Given the description of an element on the screen output the (x, y) to click on. 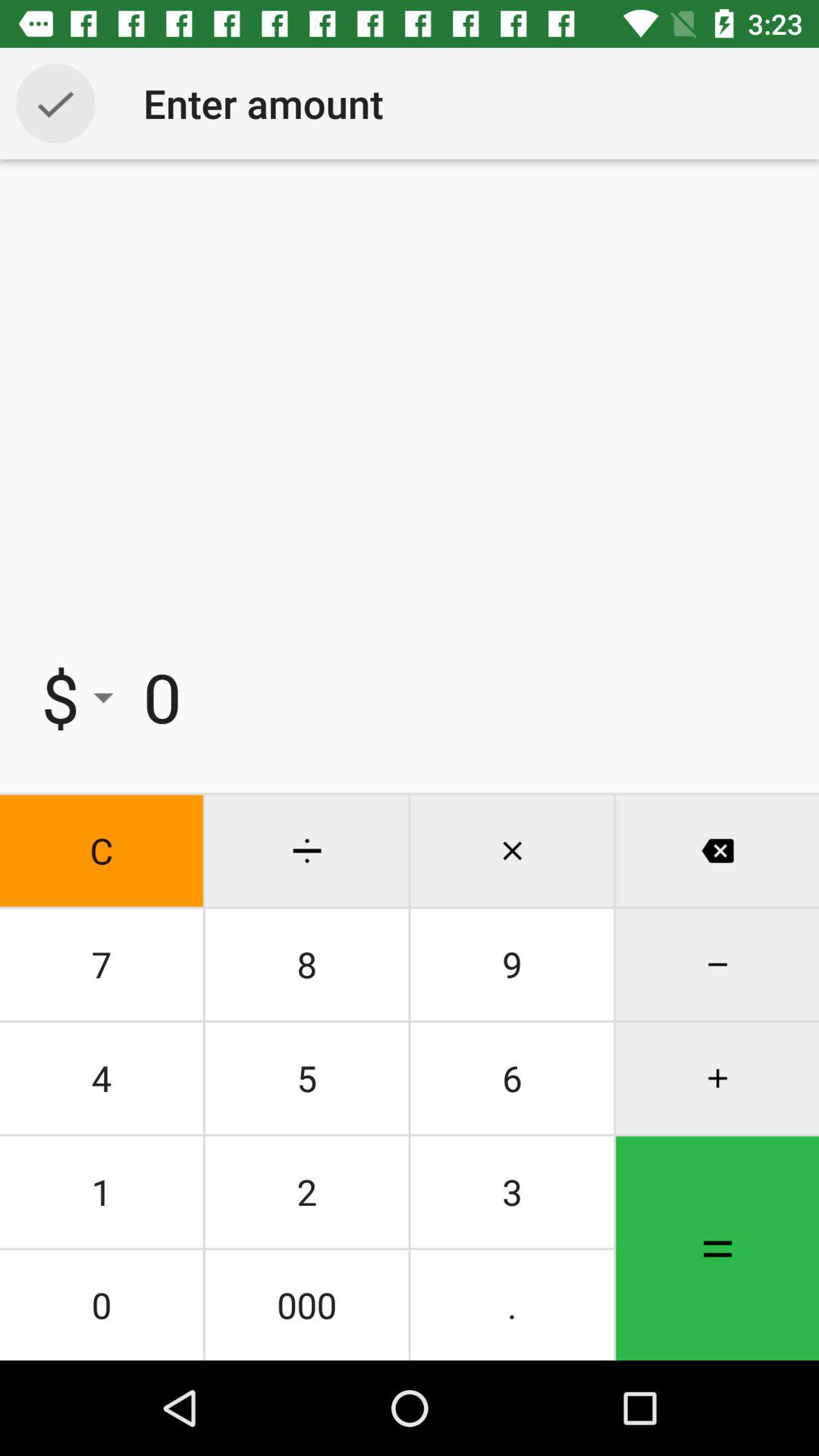
select the icon below the c icon (101, 964)
